Given the description of an element on the screen output the (x, y) to click on. 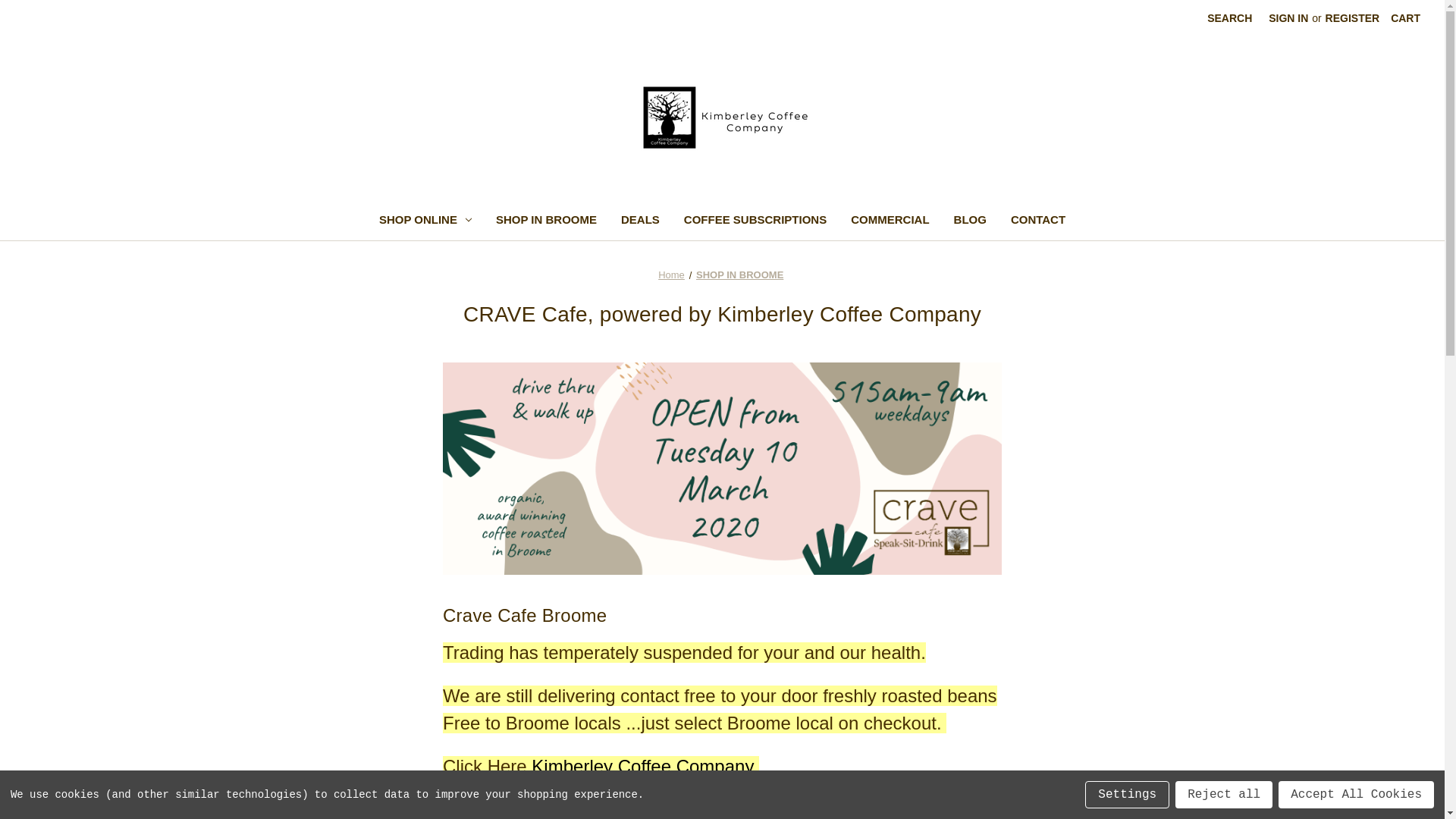
REGISTER Element type: text (1352, 18)
SHOP ONLINE Element type: text (425, 221)
COMMERCIAL Element type: text (889, 221)
Home Element type: text (671, 274)
SEARCH Element type: text (1229, 18)
SHOP IN BROOME Element type: text (739, 274)
CART Element type: text (1405, 18)
SIGN IN Element type: text (1288, 18)
Kimberley Coffee Company  Element type: text (645, 766)
Accept All Cookies Element type: text (1356, 794)
crave-1openwebfb.png Element type: hover (721, 468)
DEALS Element type: text (639, 221)
BLOG Element type: text (969, 221)
Reject all Element type: text (1223, 794)
Settings Element type: text (1127, 794)
CONTACT Element type: text (1037, 221)
Kimberley Coffee Company Element type: hover (722, 117)
SHOP IN BROOME Element type: text (545, 221)
COFFEE SUBSCRIPTIONS Element type: text (754, 221)
